Given the description of an element on the screen output the (x, y) to click on. 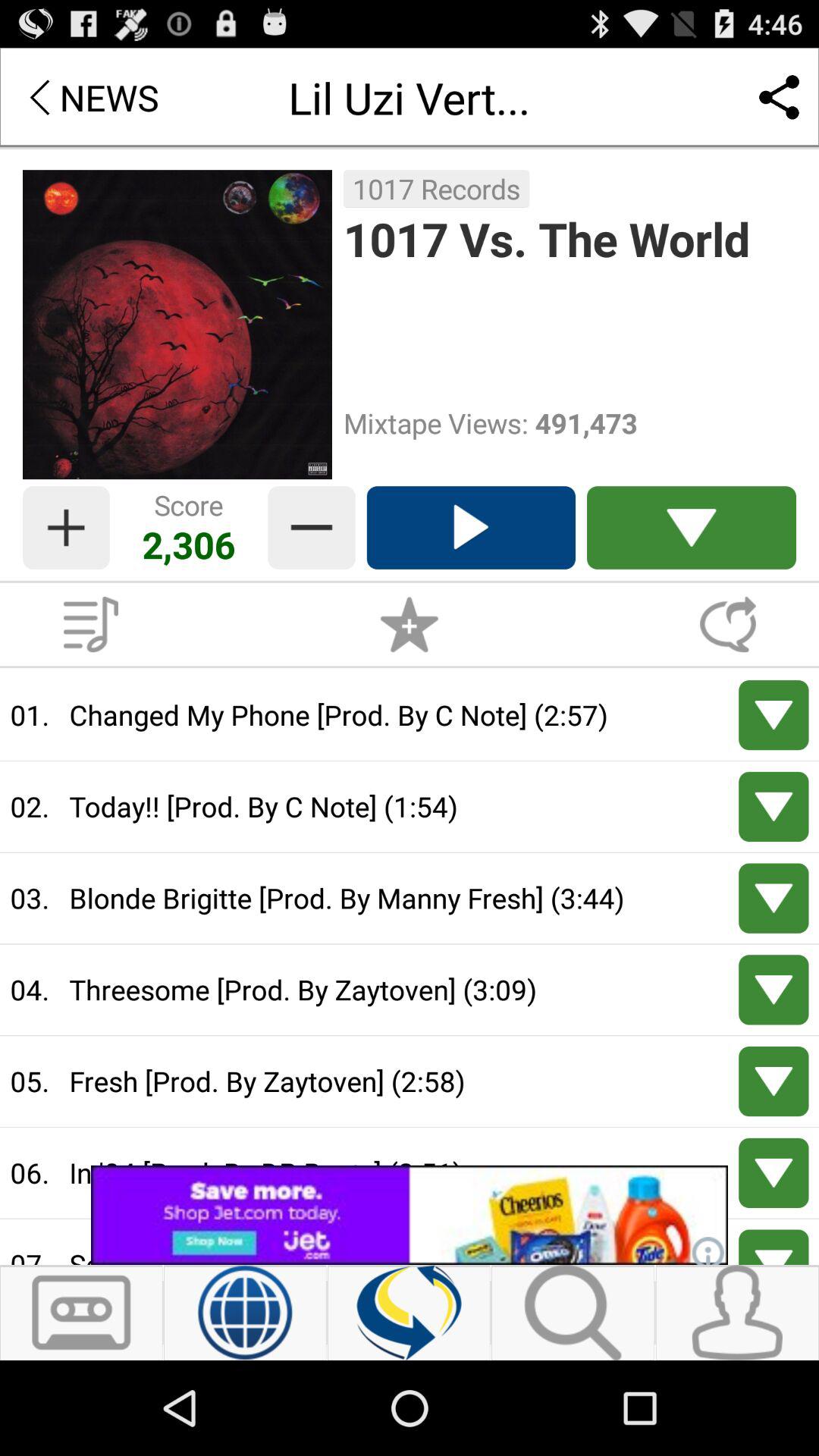
play (773, 806)
